Given the description of an element on the screen output the (x, y) to click on. 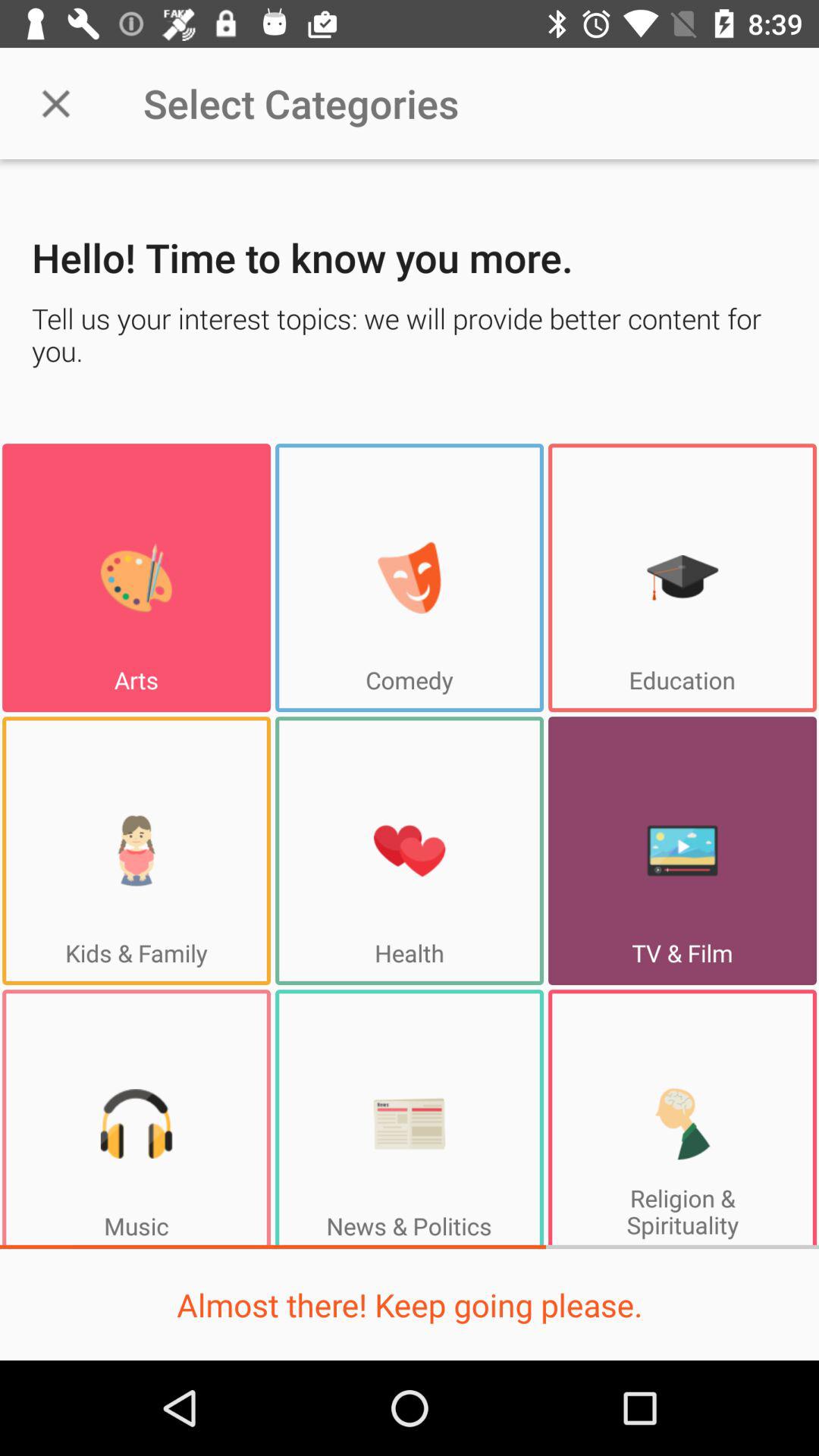
launch the item to the left of the select categories (55, 103)
